Given the description of an element on the screen output the (x, y) to click on. 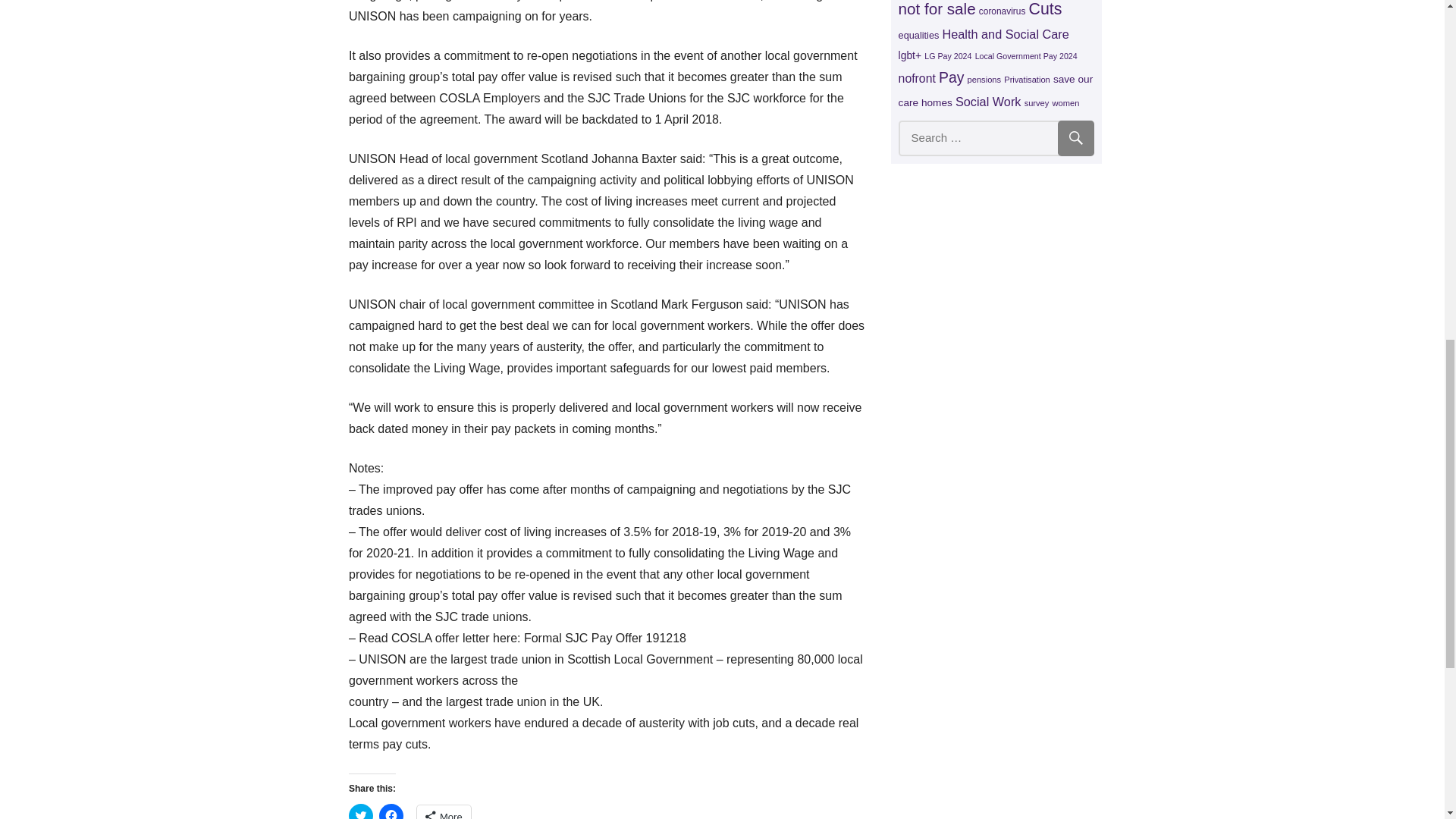
Search for: (996, 138)
Click to share on Twitter (360, 811)
Click to share on Facebook (390, 811)
